Given the description of an element on the screen output the (x, y) to click on. 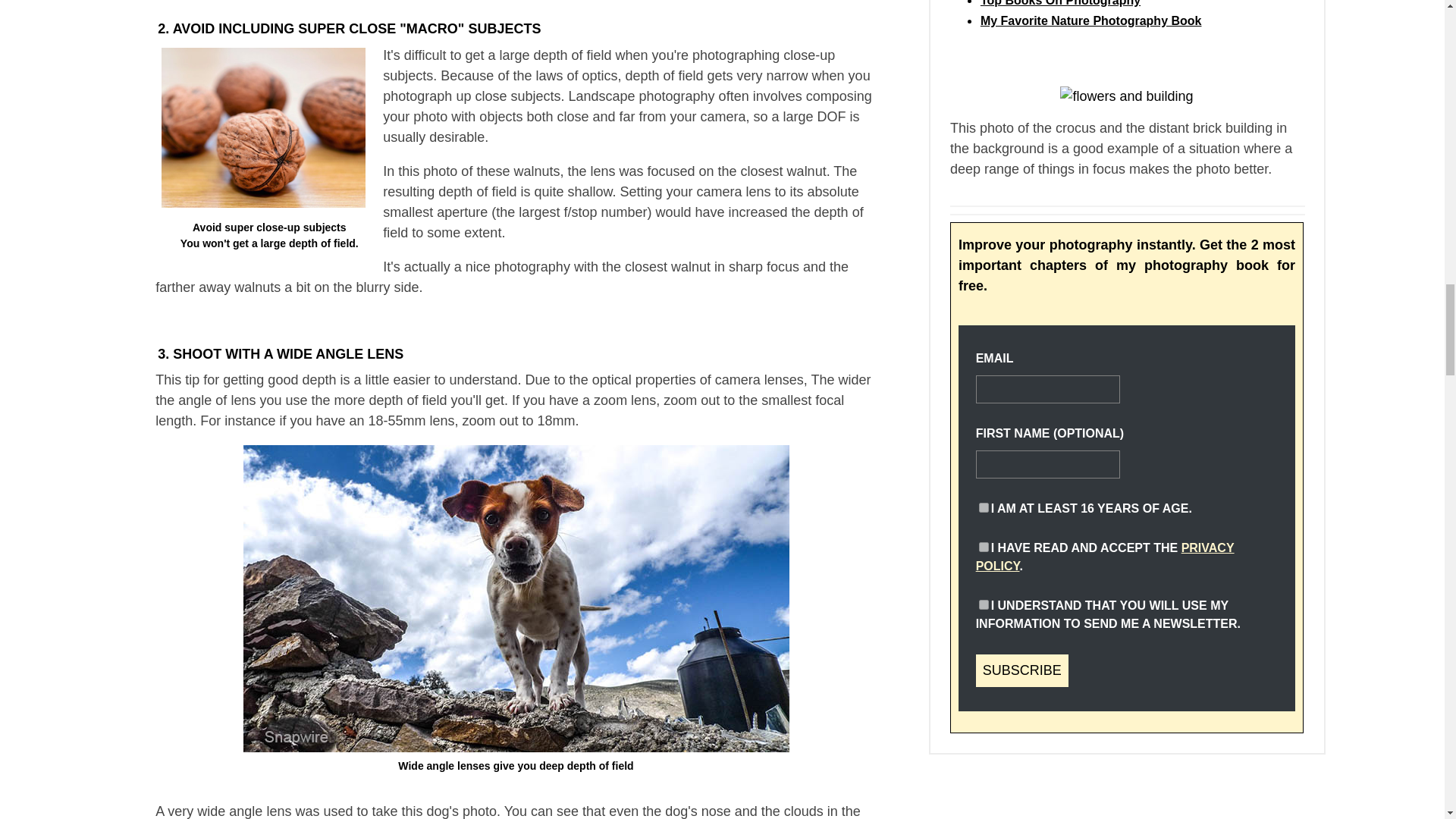
on (983, 604)
on (983, 507)
on (983, 547)
